Given the description of an element on the screen output the (x, y) to click on. 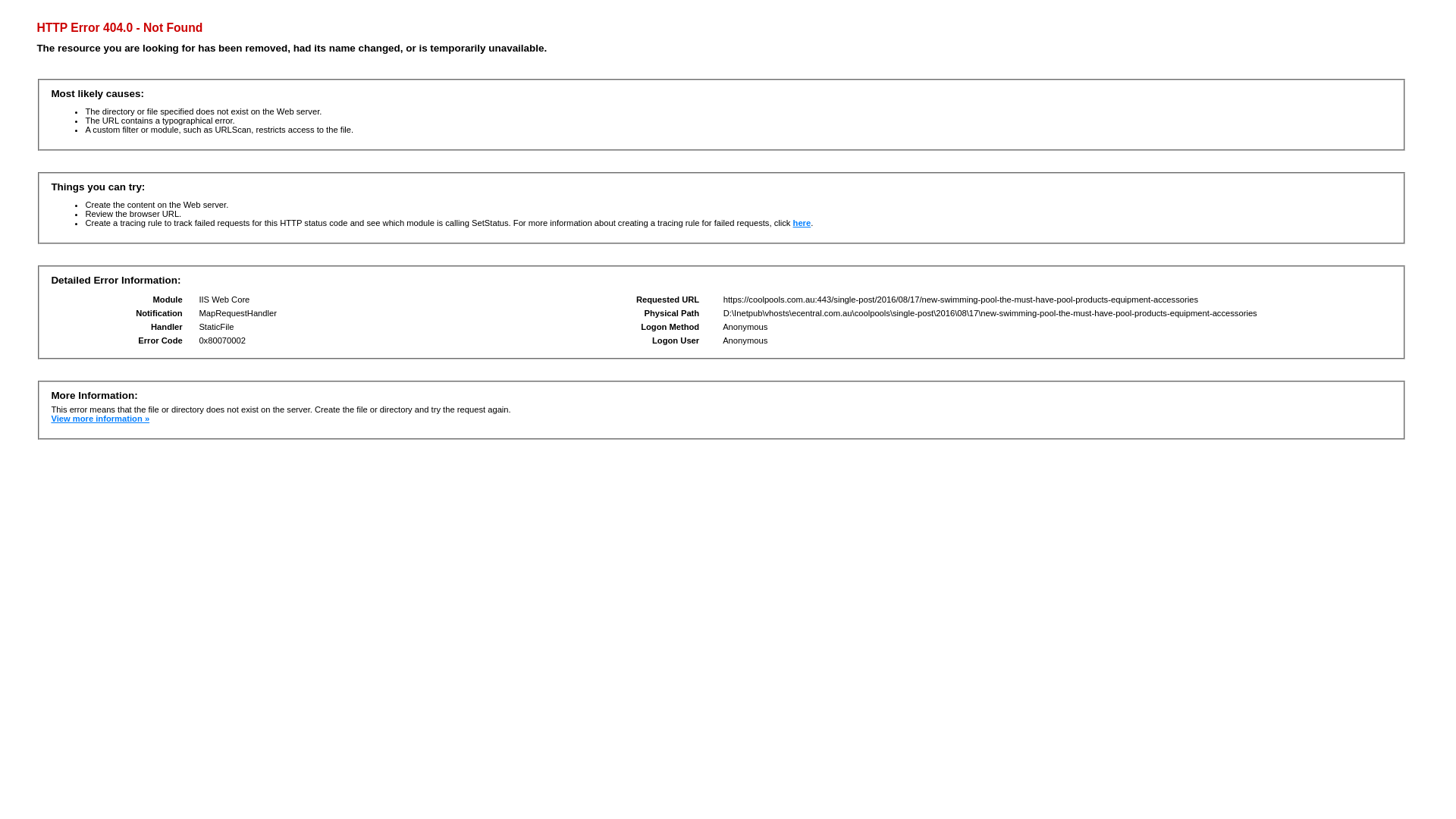
here Element type: text (802, 222)
